Given the description of an element on the screen output the (x, y) to click on. 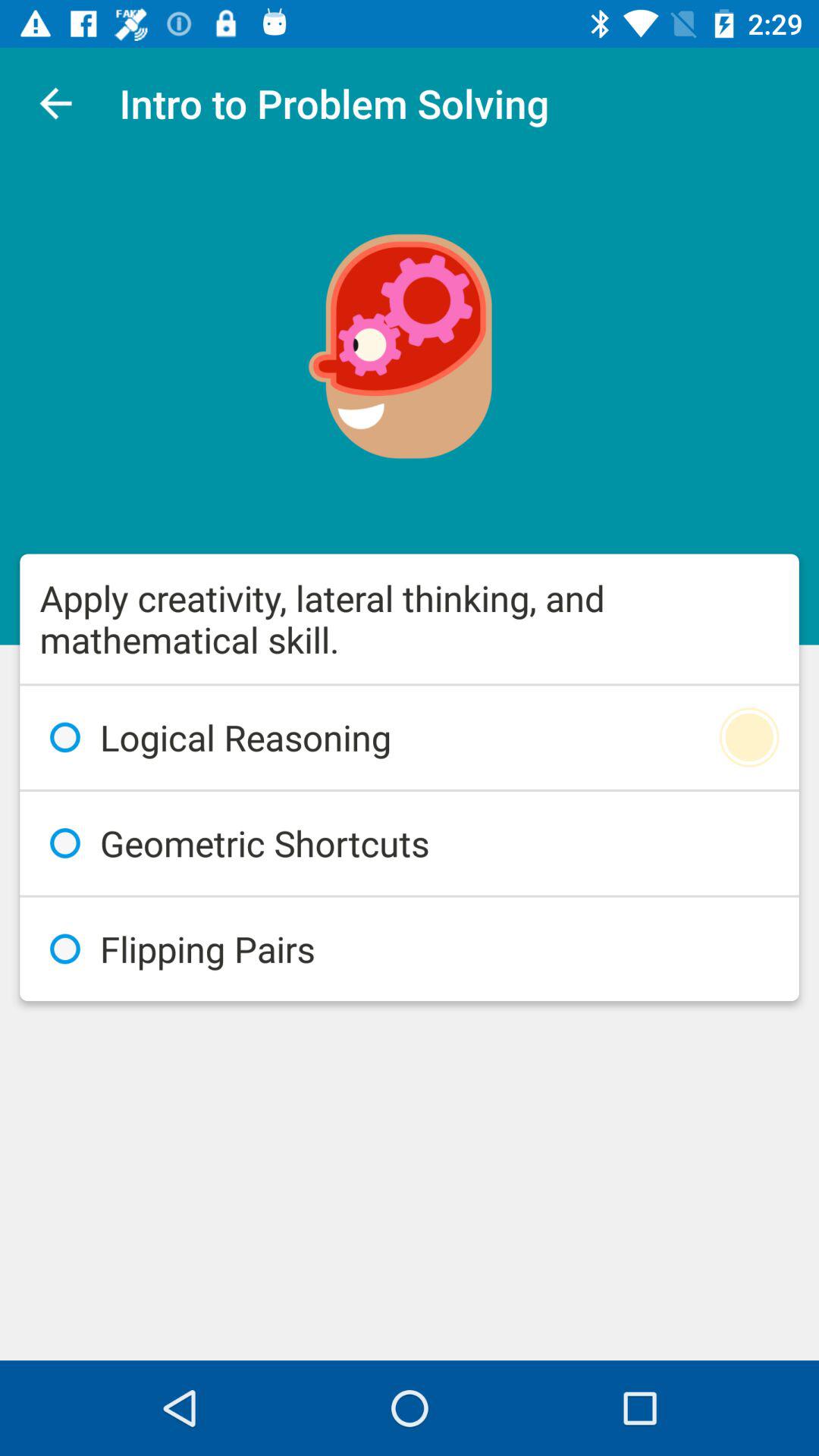
turn on the item below apply creativity lateral (409, 737)
